Given the description of an element on the screen output the (x, y) to click on. 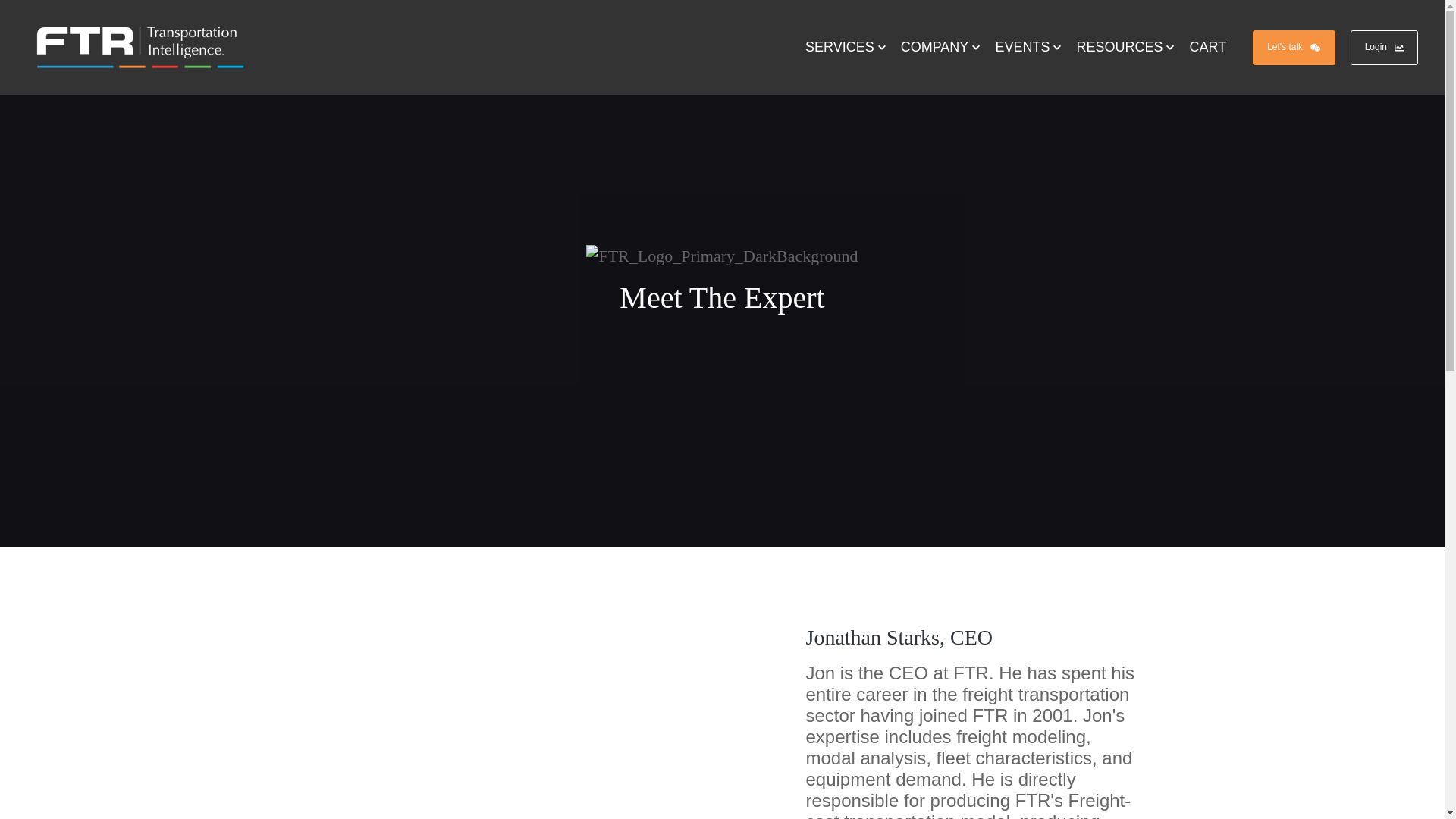
EVENTS (1027, 46)
RESOURCES (1124, 46)
SERVICES (845, 46)
COMPANY (940, 46)
